Given the description of an element on the screen output the (x, y) to click on. 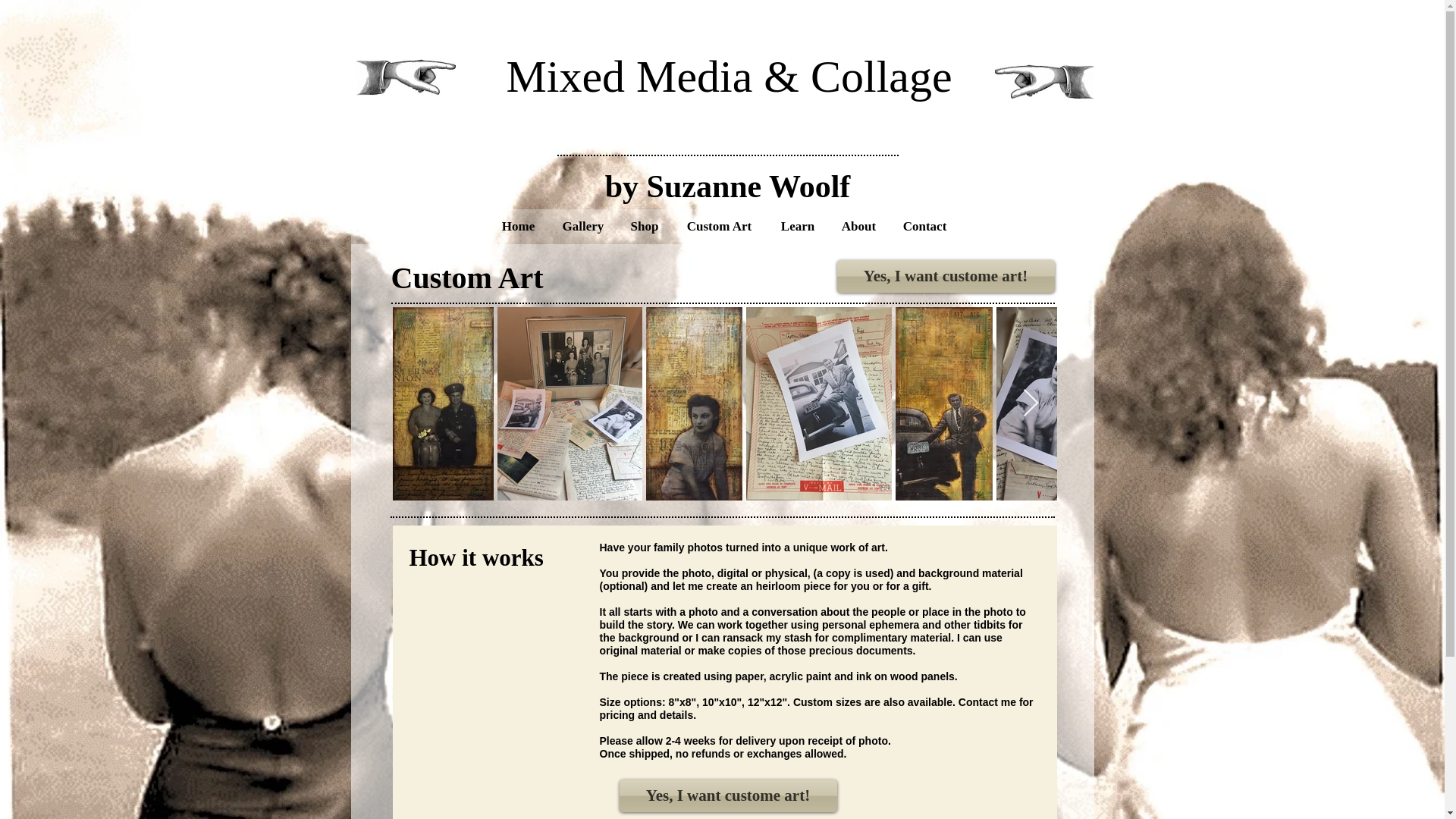
Contact (923, 226)
Yes, I want custome art! (945, 276)
Yes, I want custome art! (726, 795)
Gallery (582, 226)
Custom Art (719, 226)
Shop (644, 226)
About (858, 226)
by Suzanne Woolf (727, 185)
Learn (797, 226)
Home (517, 226)
